Given the description of an element on the screen output the (x, y) to click on. 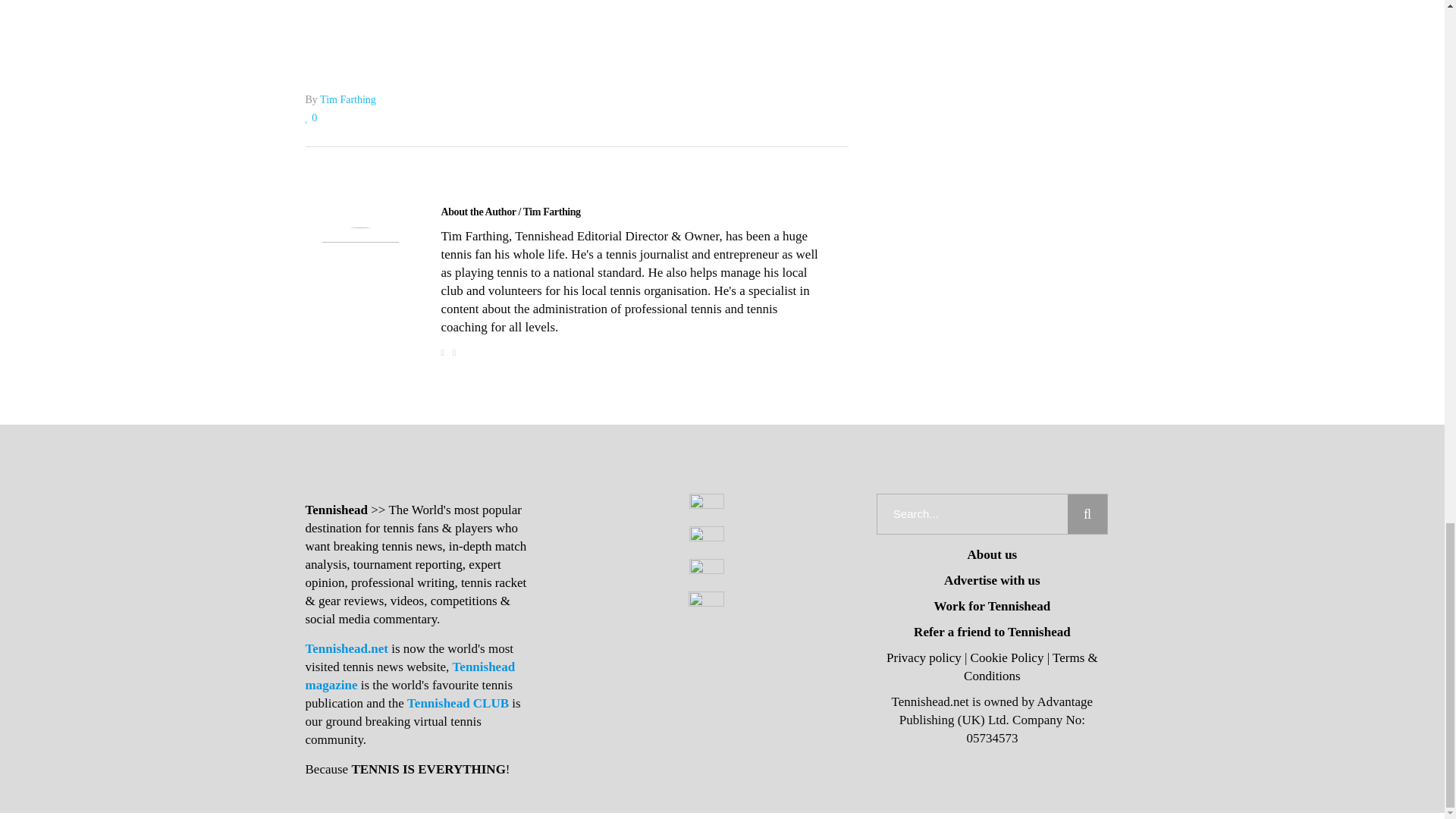
Improver racket review: Babolat C-Drive 105 (510, 211)
Improver racket review: Babolat C-Drive 105 (359, 282)
Like this (310, 117)
TNNS Live Scores (576, 12)
Search for: (972, 513)
